Given the description of an element on the screen output the (x, y) to click on. 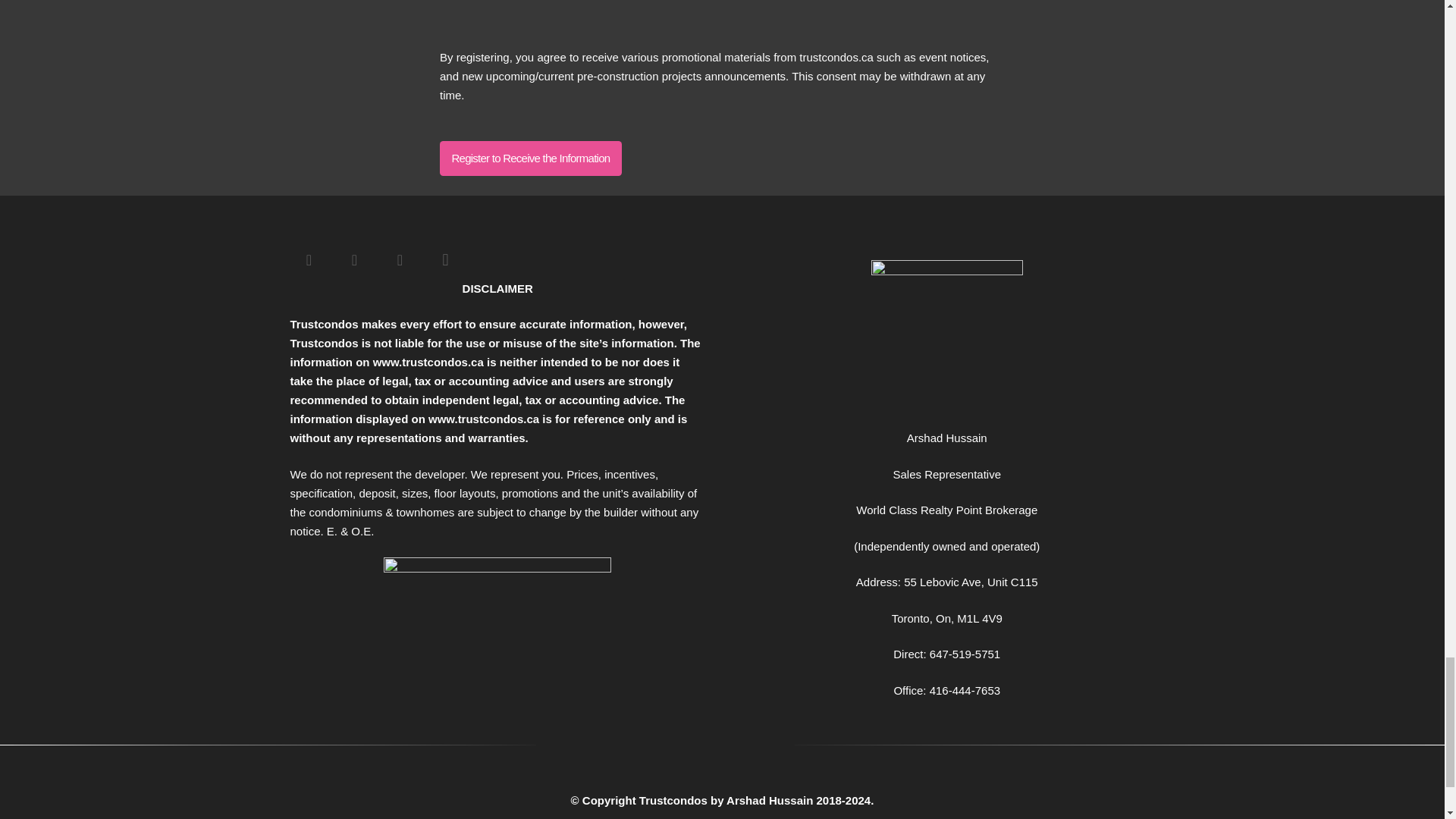
Instagram (445, 259)
Twitter (353, 259)
YouTube (399, 259)
Facebook (308, 259)
Register to Receive the Information (530, 158)
